Given the description of an element on the screen output the (x, y) to click on. 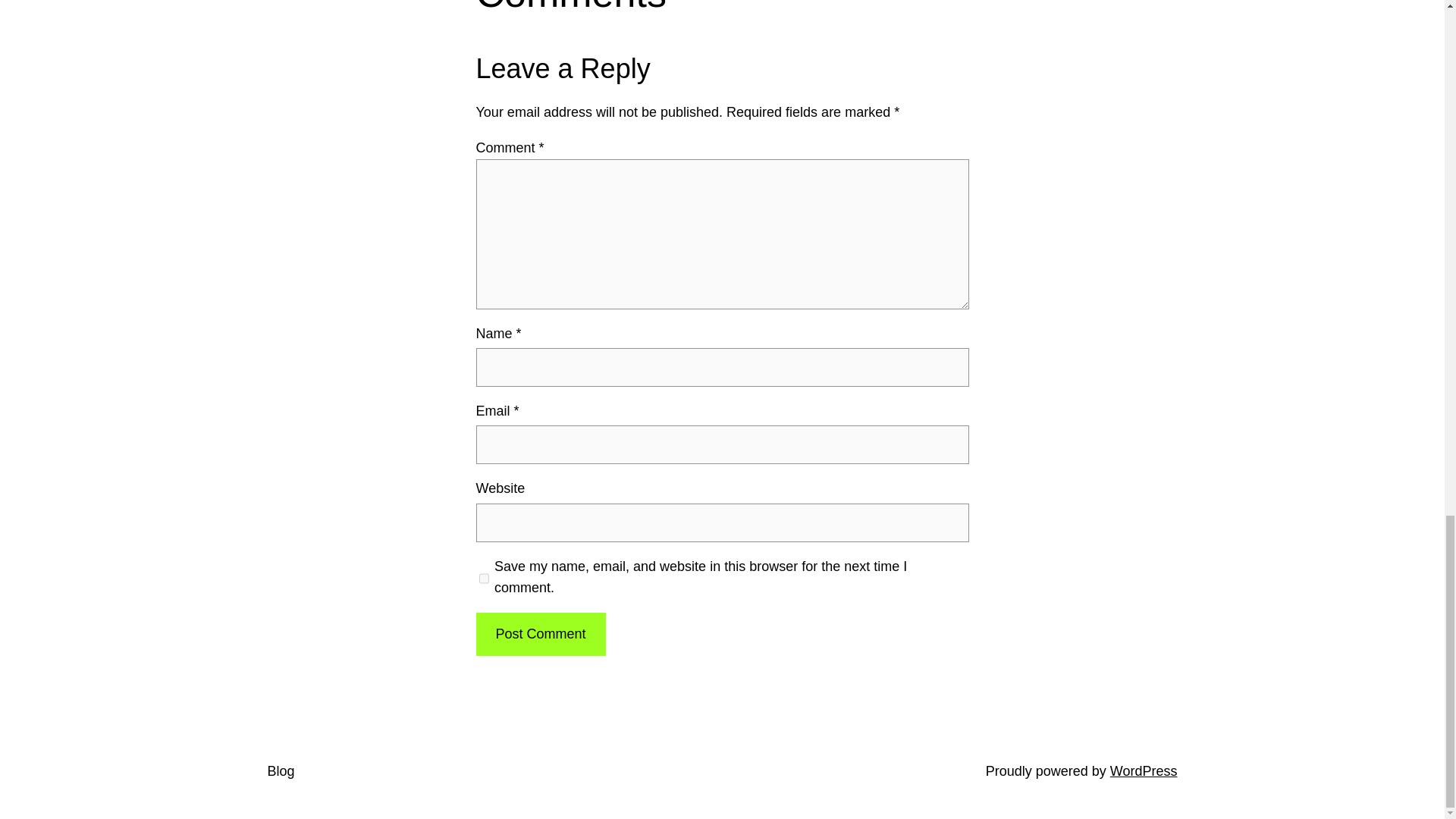
Post Comment (540, 634)
Post Comment (540, 634)
WordPress (1143, 770)
Blog (280, 770)
